Given the description of an element on the screen output the (x, y) to click on. 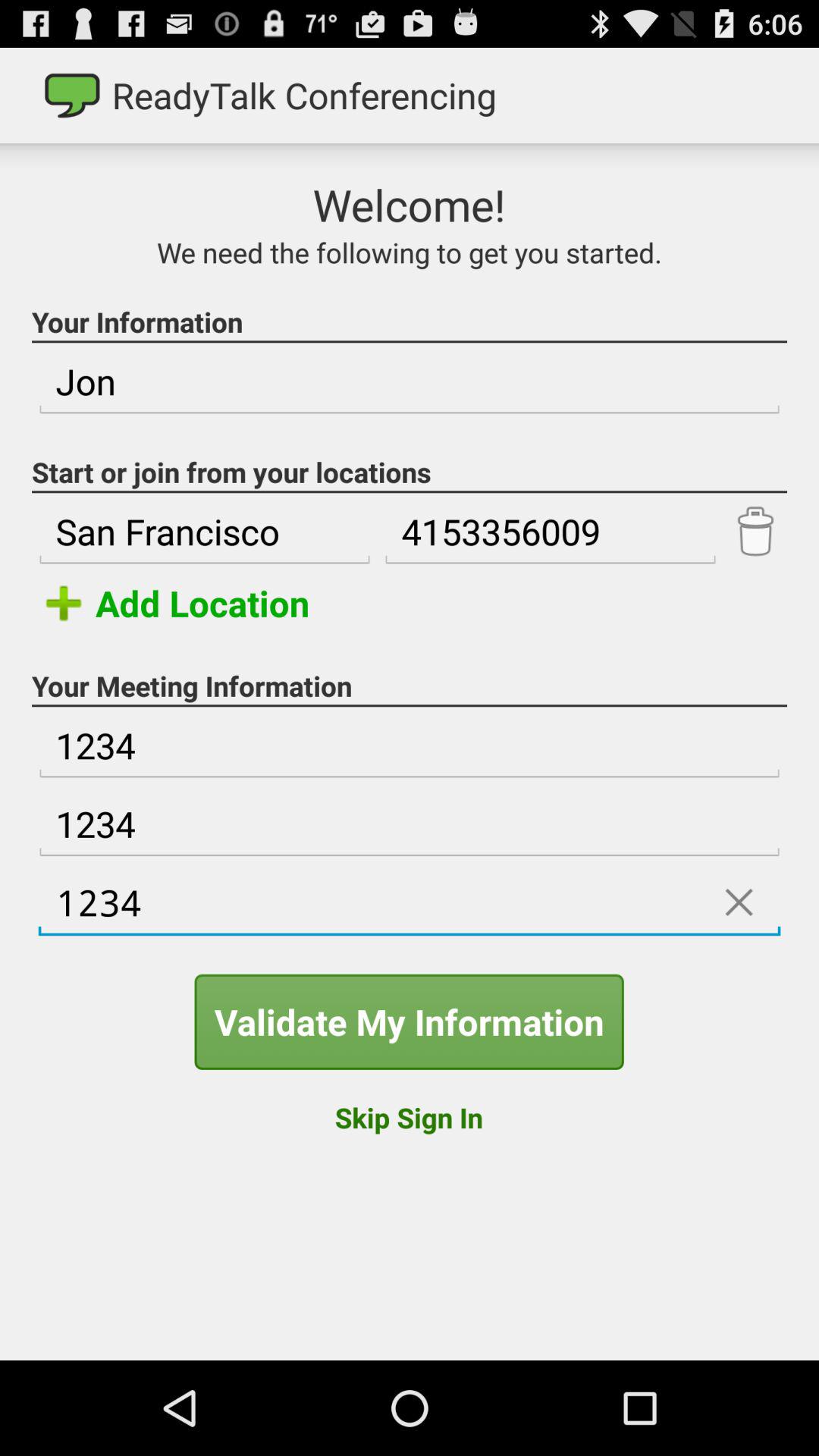
choose the skip sign in button (408, 1117)
